Given the description of an element on the screen output the (x, y) to click on. 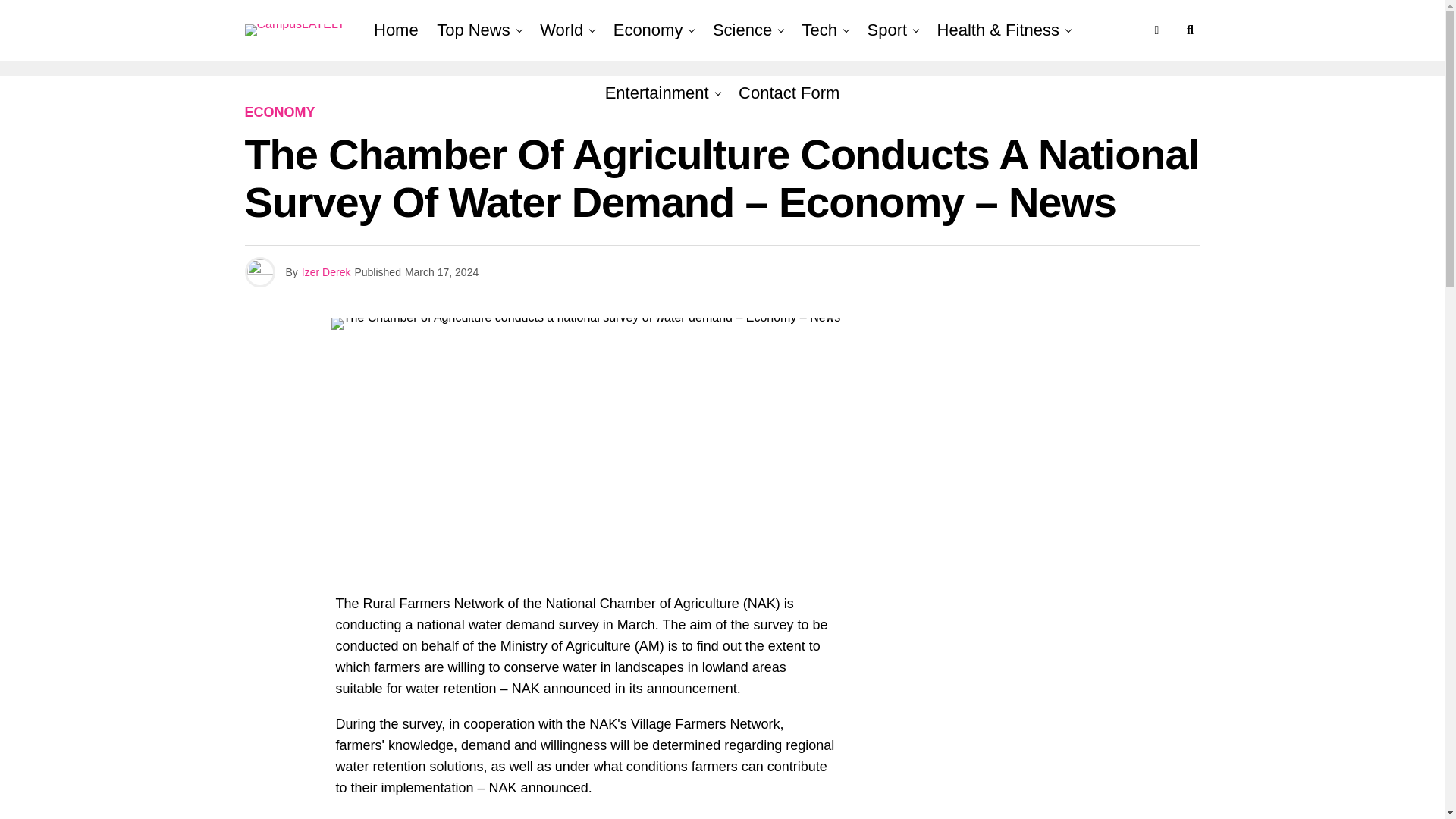
Home (396, 30)
Science (741, 30)
Sport (887, 30)
World (561, 30)
Top News (473, 30)
Economy (647, 30)
